Given the description of an element on the screen output the (x, y) to click on. 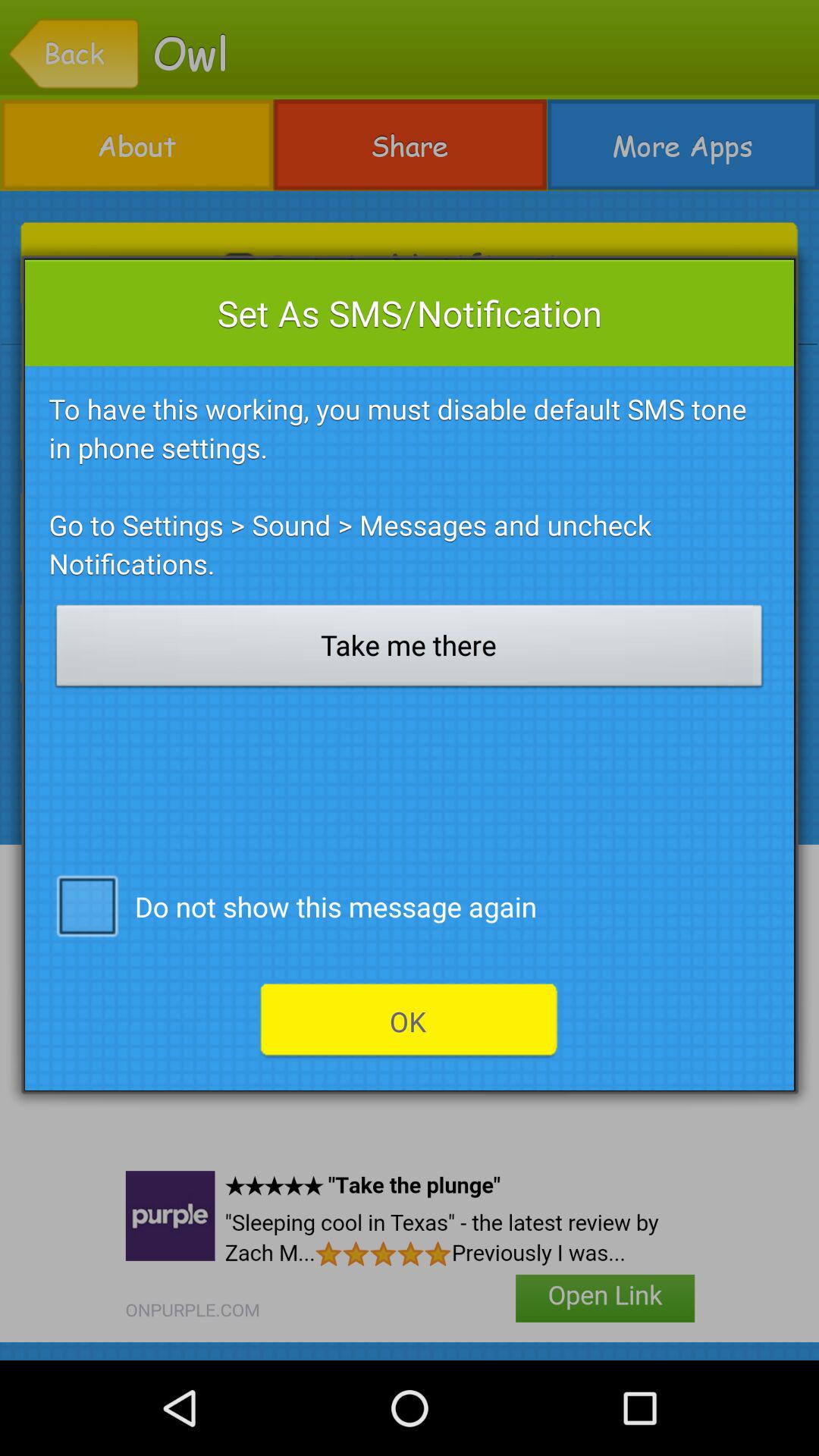
open the icon on the left (86, 904)
